Given the description of an element on the screen output the (x, y) to click on. 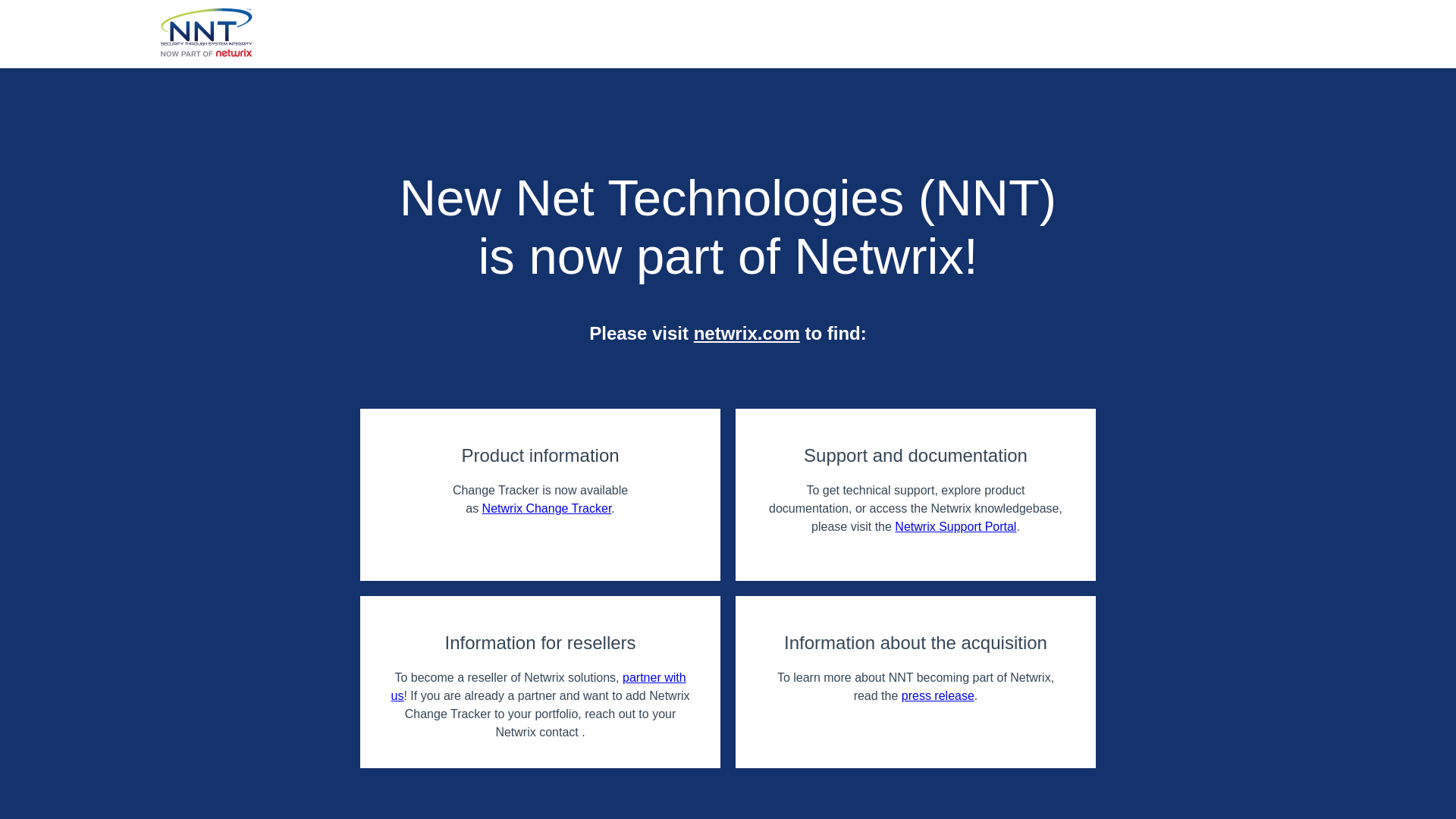
press release (937, 695)
Netwrix Support Portal (955, 526)
netwrix.com (746, 332)
partner with us (538, 685)
Netwrix Change Tracker (546, 508)
